Given the description of an element on the screen output the (x, y) to click on. 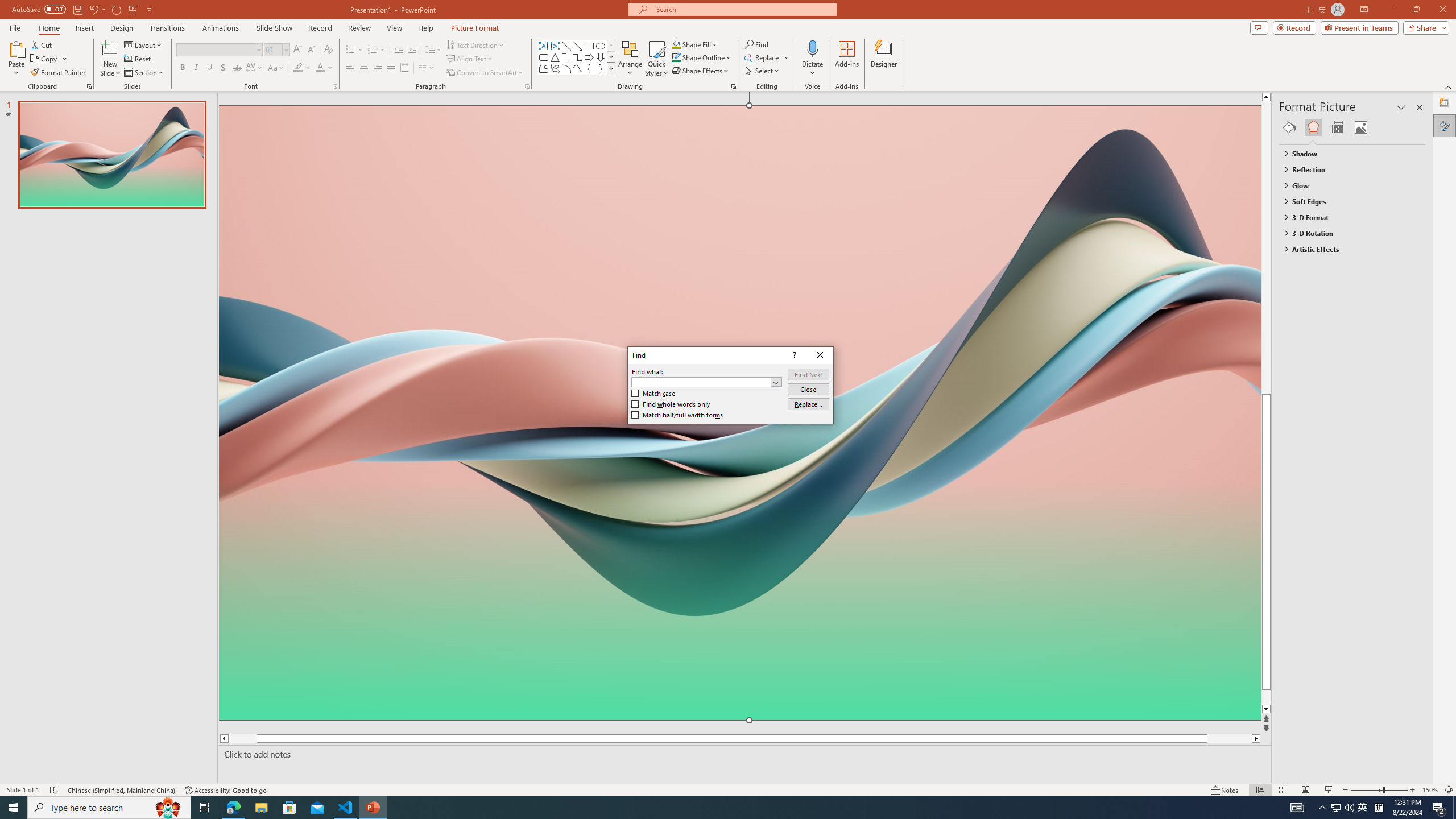
Font Color Red (320, 67)
Curve (577, 68)
Line Spacing (433, 49)
Layout (143, 44)
Format Picture (1444, 125)
Shape Fill Orange, Accent 2 (675, 44)
Columns (426, 67)
Text Highlight Color Yellow (297, 67)
Decorative Locked (739, 579)
Strikethrough (237, 67)
Increase Font Size (297, 49)
